Given the description of an element on the screen output the (x, y) to click on. 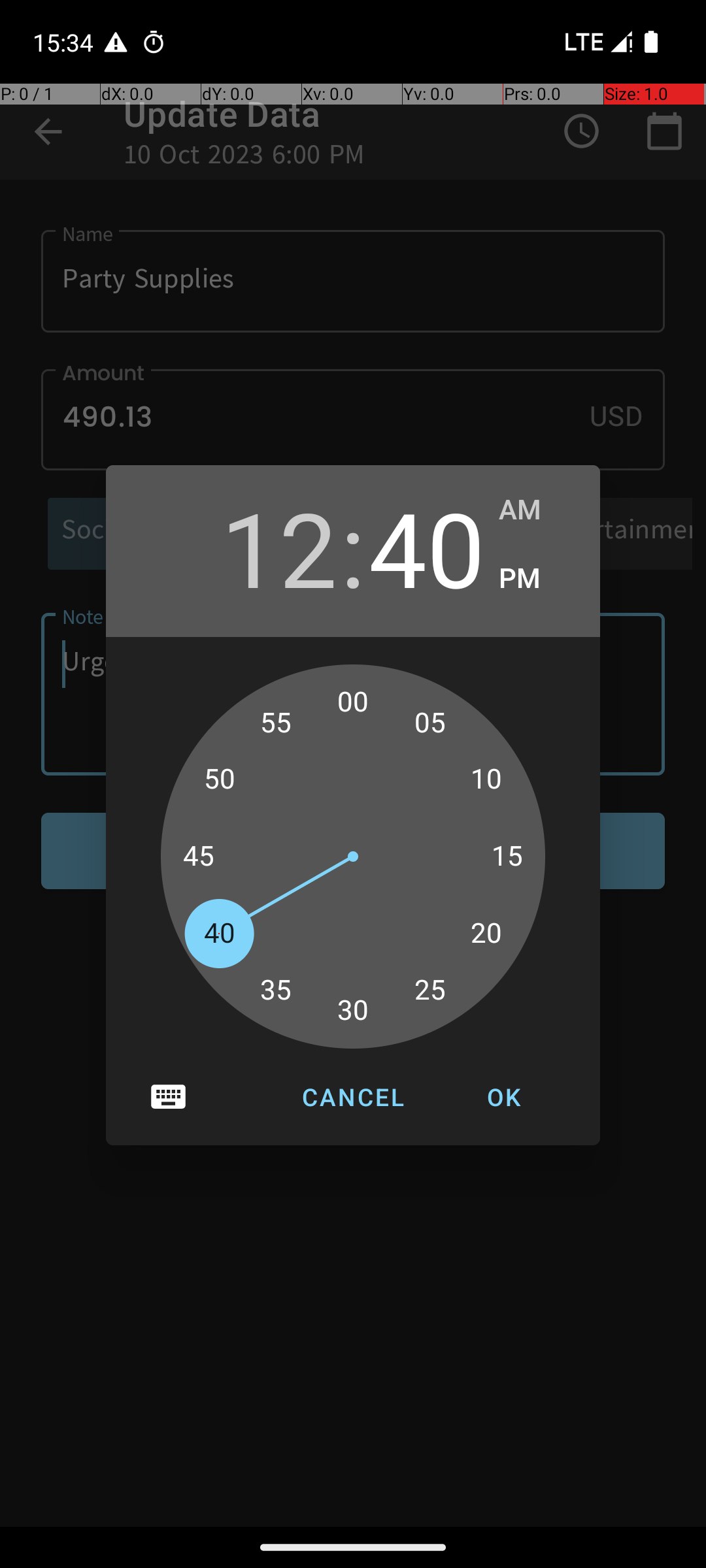
AM Element type: android.widget.RadioButton (535, 510)
PM Element type: android.widget.RadioButton (535, 578)
